Given the description of an element on the screen output the (x, y) to click on. 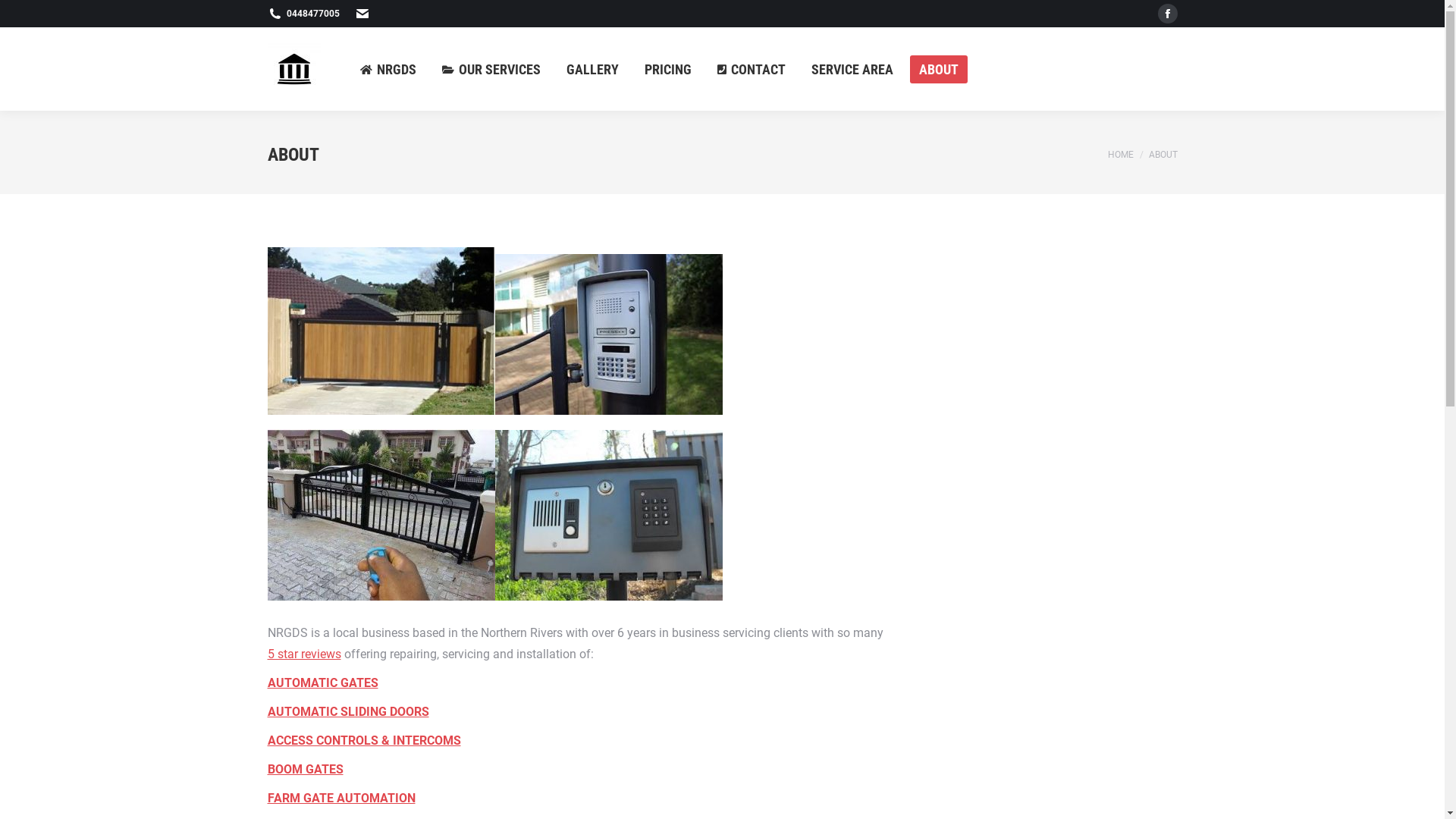
AUTOMATIC SLIDING DOORS Element type: text (347, 711)
BOOM GATES Element type: text (304, 769)
ABOUT Element type: text (938, 68)
HOME Element type: text (1119, 153)
GALLERY Element type: text (591, 68)
AUTOMATIC GATES Element type: text (321, 682)
Facebook page opens in new window Element type: text (1166, 13)
CONTACT Element type: text (751, 68)
5 star reviews Element type: text (303, 653)
SERVICE AREA Element type: text (852, 68)
OUR SERVICES Element type: text (490, 68)
NRGDS Element type: text (387, 68)
FARM GATE AUTOMATION Element type: text (340, 797)
ACCESS CONTROLS & INTERCOMS Element type: text (363, 740)
PRICING Element type: text (667, 68)
